Given the description of an element on the screen output the (x, y) to click on. 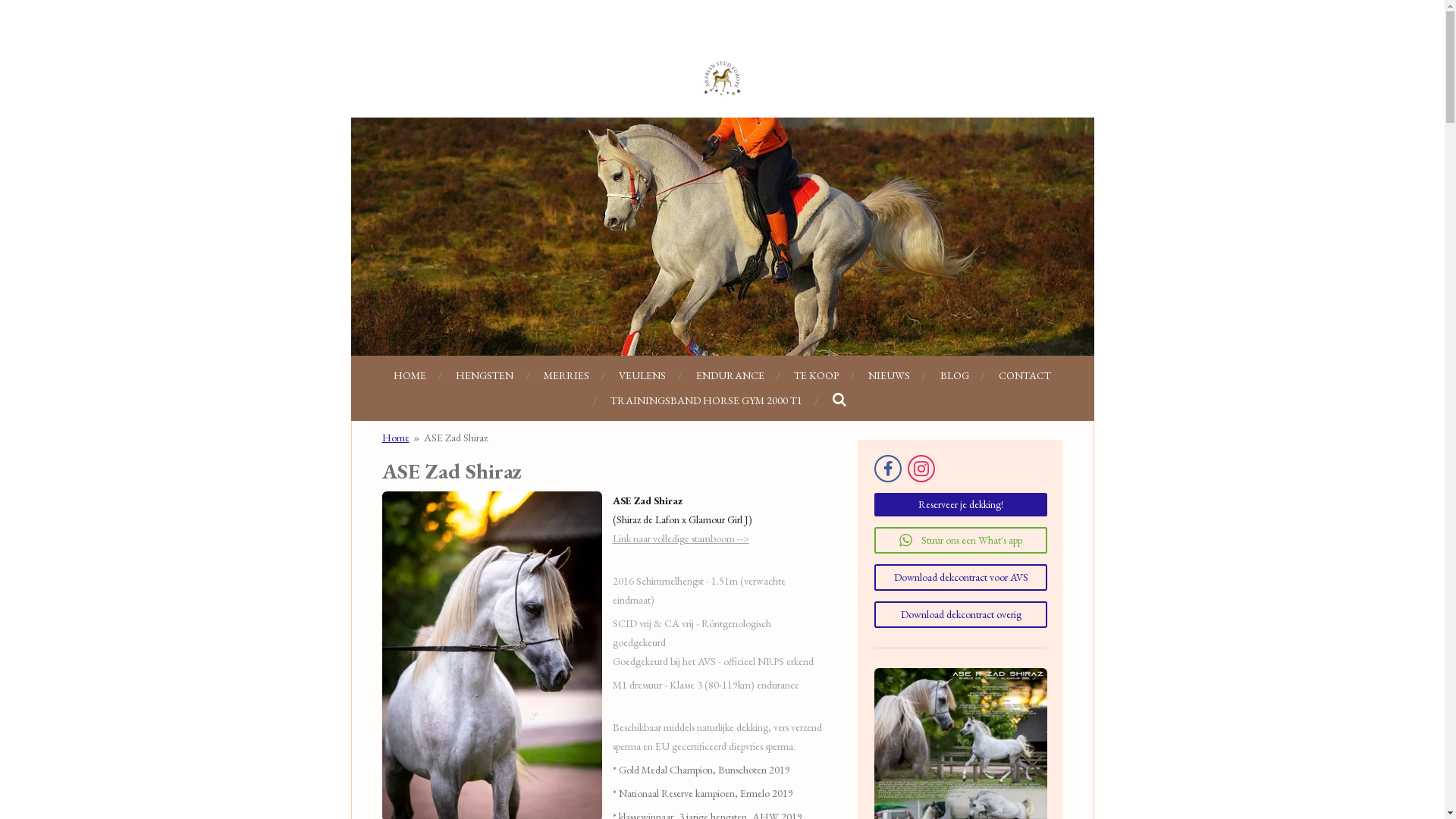
VEULENS Element type: text (642, 375)
Download dekcontract voor AVS Element type: text (960, 577)
CONTACT Element type: text (1024, 375)
NIEUWS Element type: text (888, 375)
Stuur ons een What's app Element type: text (960, 540)
Reserveer je dekking! Element type: text (960, 504)
BLOG Element type: text (954, 375)
Zoeken Element type: hover (840, 400)
TE KOOP Element type: text (816, 375)
Home Element type: text (395, 437)
Download dekcontract overig Element type: text (960, 614)
MERRIES Element type: text (566, 375)
Link naar volledige stamboom --> Element type: text (680, 538)
Arabian Stud Europe Element type: hover (721, 77)
ENDURANCE Element type: text (729, 375)
HOME Element type: text (409, 375)
HENGSTEN Element type: text (484, 375)
TRAININGSBAND HORSE GYM 2000 T1 Element type: text (706, 400)
ASE Zad Shiraz Element type: text (455, 437)
